Given the description of an element on the screen output the (x, y) to click on. 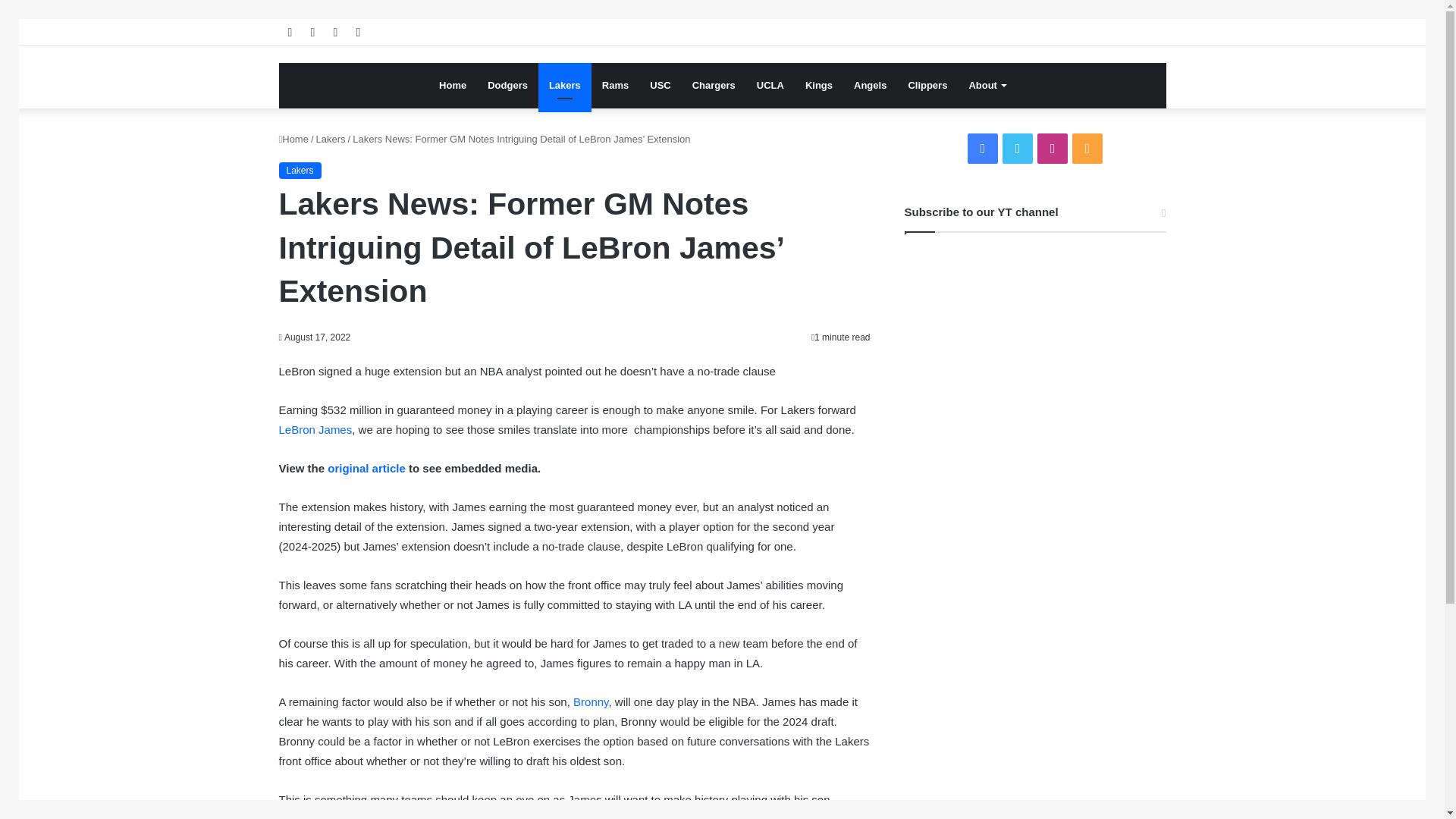
original article (366, 468)
Bronny (590, 701)
LeBron James (315, 429)
Twitter (1017, 148)
Home (293, 138)
Lakers (564, 85)
About (987, 85)
Kings (818, 85)
Lakers (330, 138)
Chargers (713, 85)
Instagram (1051, 148)
Facebook (982, 148)
UCLA (769, 85)
Angels (869, 85)
Rams (615, 85)
